Given the description of an element on the screen output the (x, y) to click on. 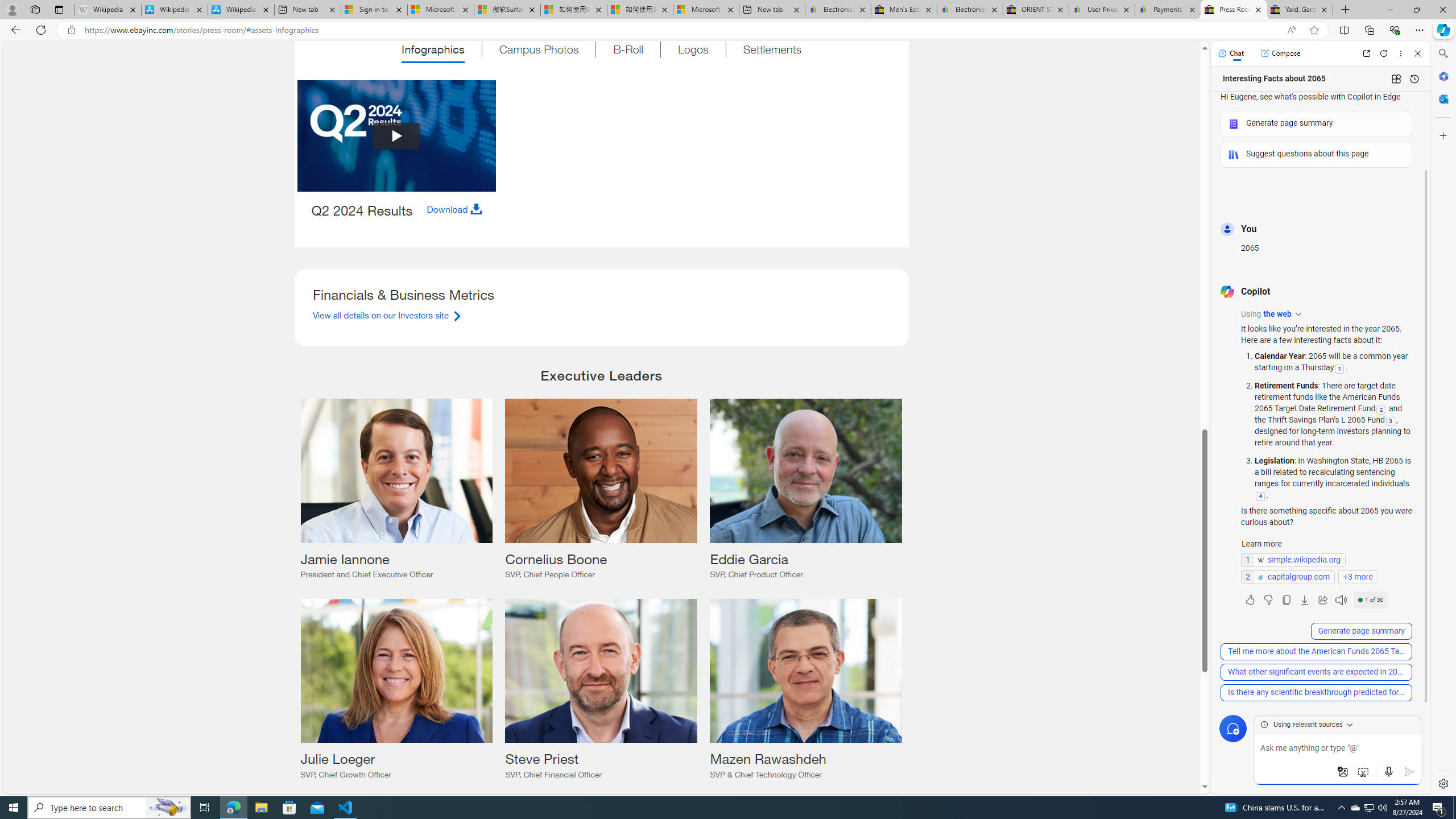
Sign in to your Microsoft account (374, 9)
Electronics, Cars, Fashion, Collectibles & More | eBay (969, 9)
Open link in new tab (1366, 53)
